Given the description of an element on the screen output the (x, y) to click on. 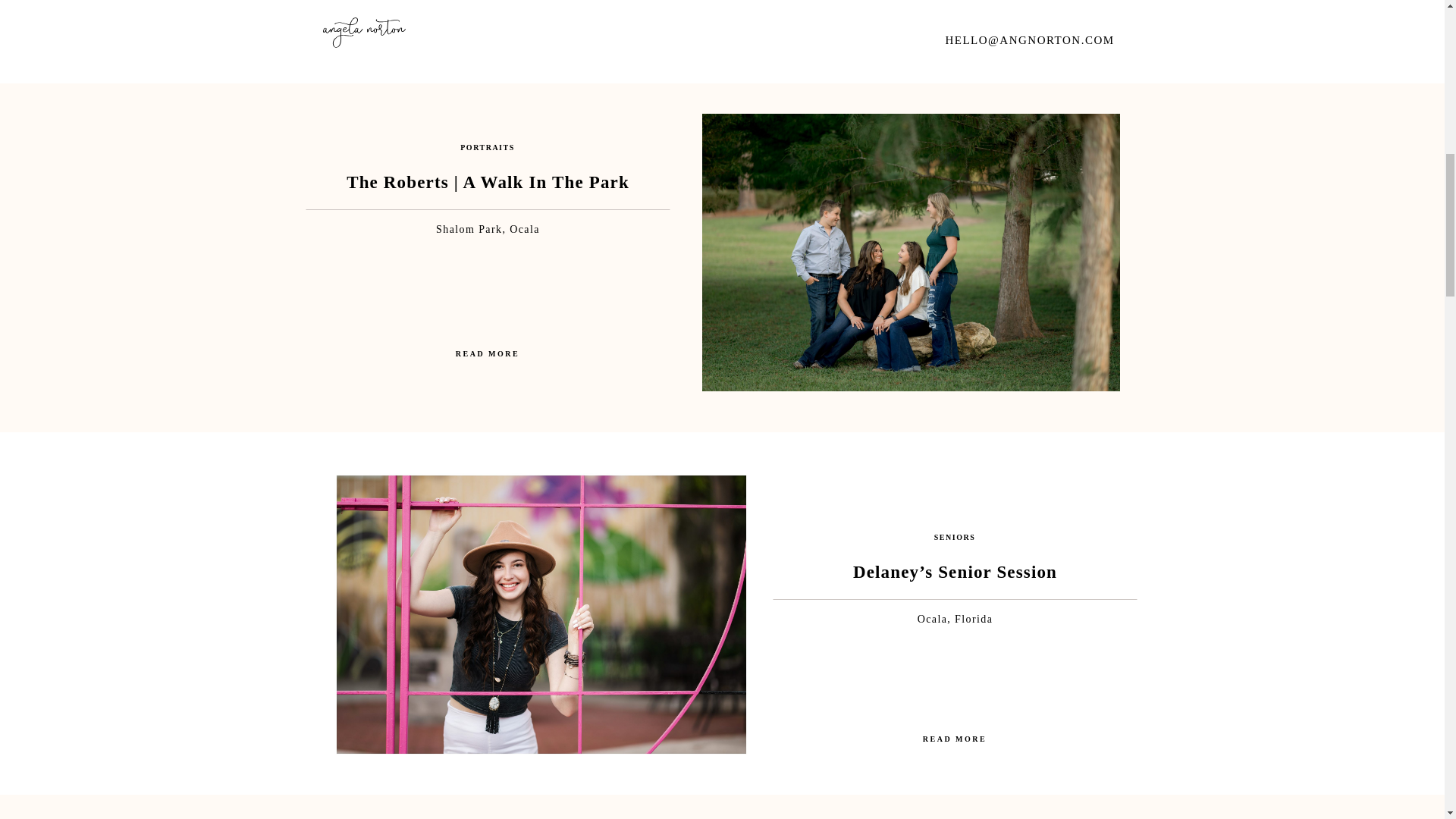
Silver Springs Florida Wedding Day (953, 17)
Silver Springs Florida Wedding Day (540, 23)
